Given the description of an element on the screen output the (x, y) to click on. 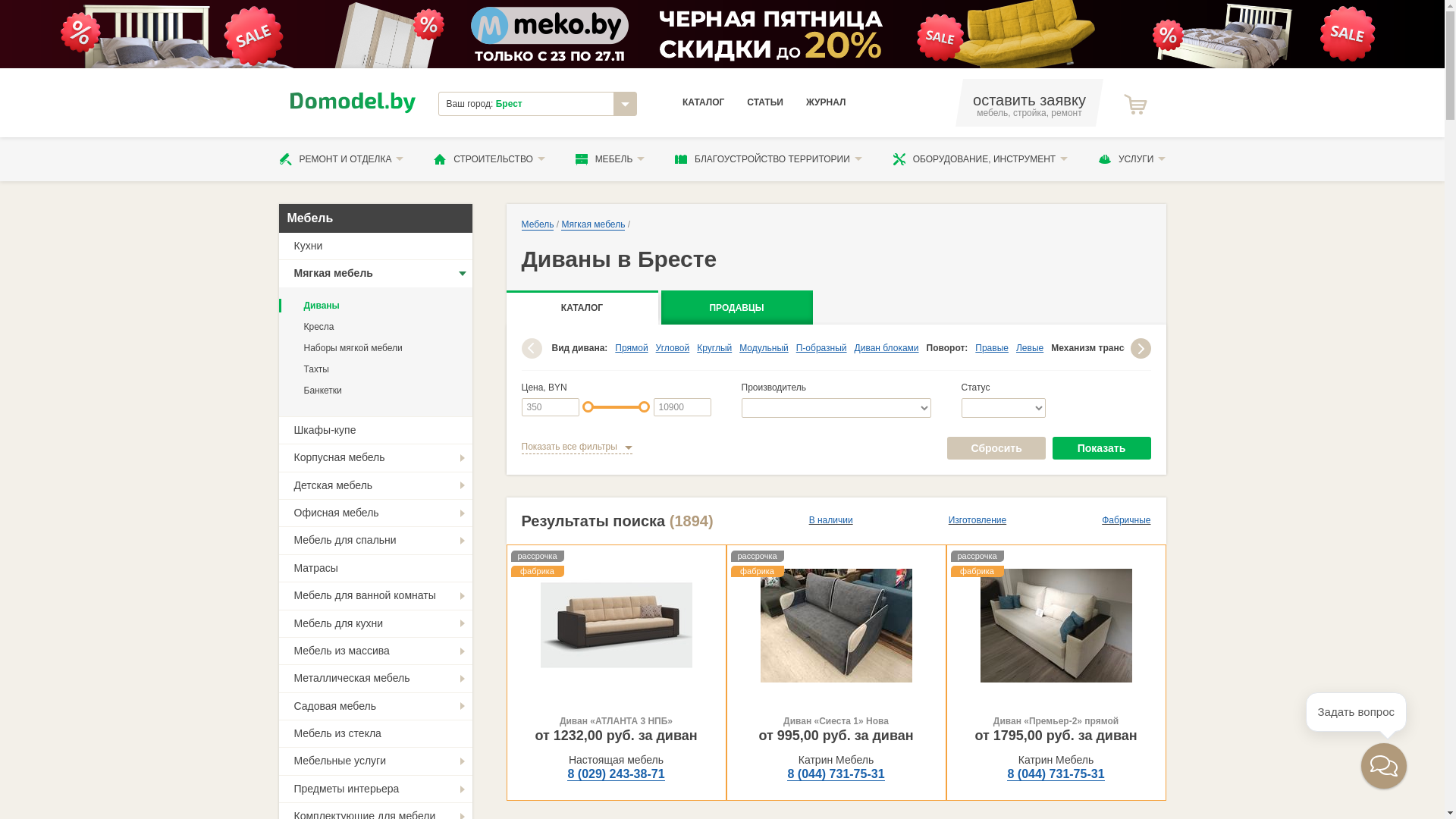
8 (044) 731-75-31 Element type: text (835, 774)
8 (044) 731-75-31 Element type: text (1055, 774)
8 (029) 243-38-71 Element type: text (615, 774)
